Given the description of an element on the screen output the (x, y) to click on. 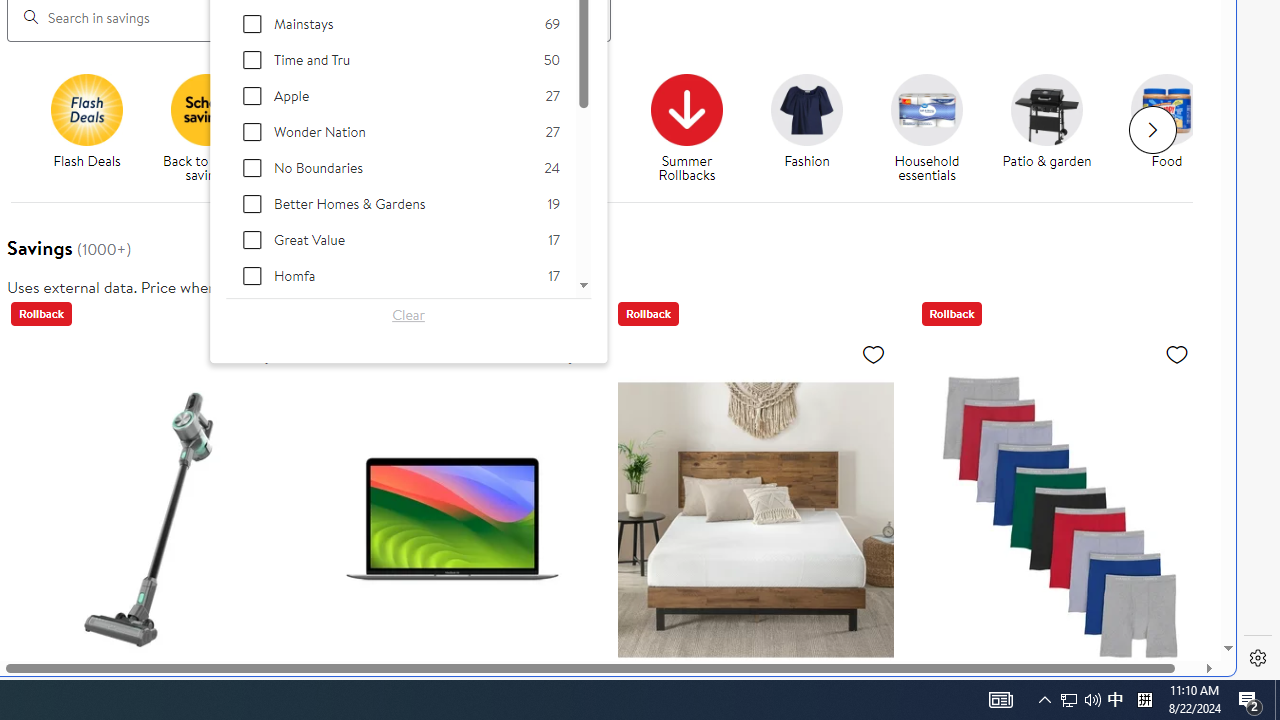
Back to school savings (214, 128)
Next slide for chipModuleWithImages list (1152, 129)
Hanes Men's Super Value Pack Assorted Boxer Briefs, 10 Pack (1058, 519)
Fashion Fashion (806, 122)
Back to college savings (335, 128)
Flash Deals (94, 128)
Food (1174, 128)
Back to College savings (326, 109)
Food Food (1166, 122)
Fashion (806, 109)
Fashion (815, 128)
